Given the description of an element on the screen output the (x, y) to click on. 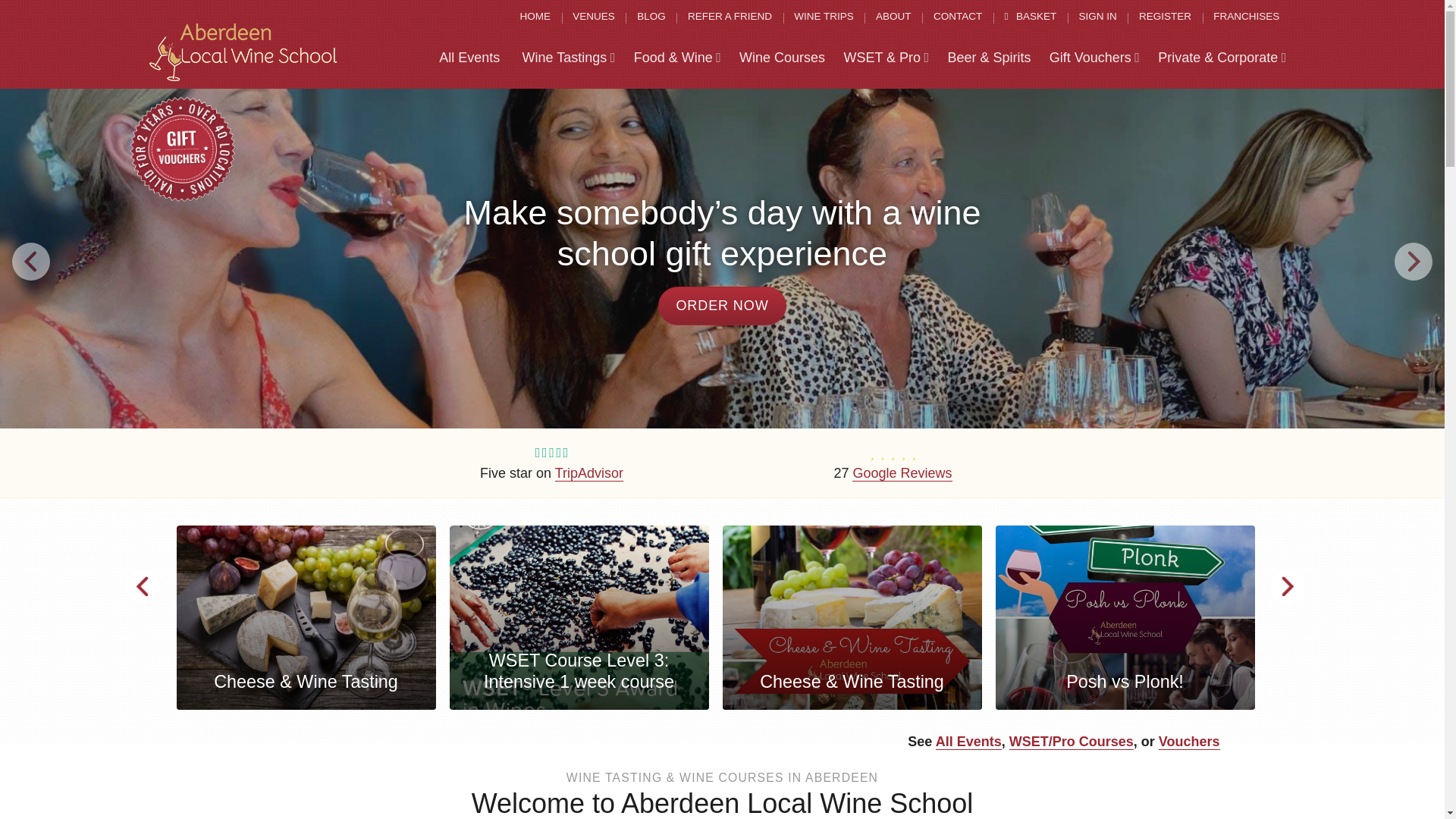
BLOG (651, 17)
CONTACT (957, 17)
SIGN IN (1096, 17)
FRANCHISES (1246, 17)
WINE TRIPS (823, 17)
All Events (468, 58)
Wine Courses (782, 58)
REFER A FRIEND (729, 17)
REGISTER (1164, 17)
Wine Tastings (568, 58)
